Given the description of an element on the screen output the (x, y) to click on. 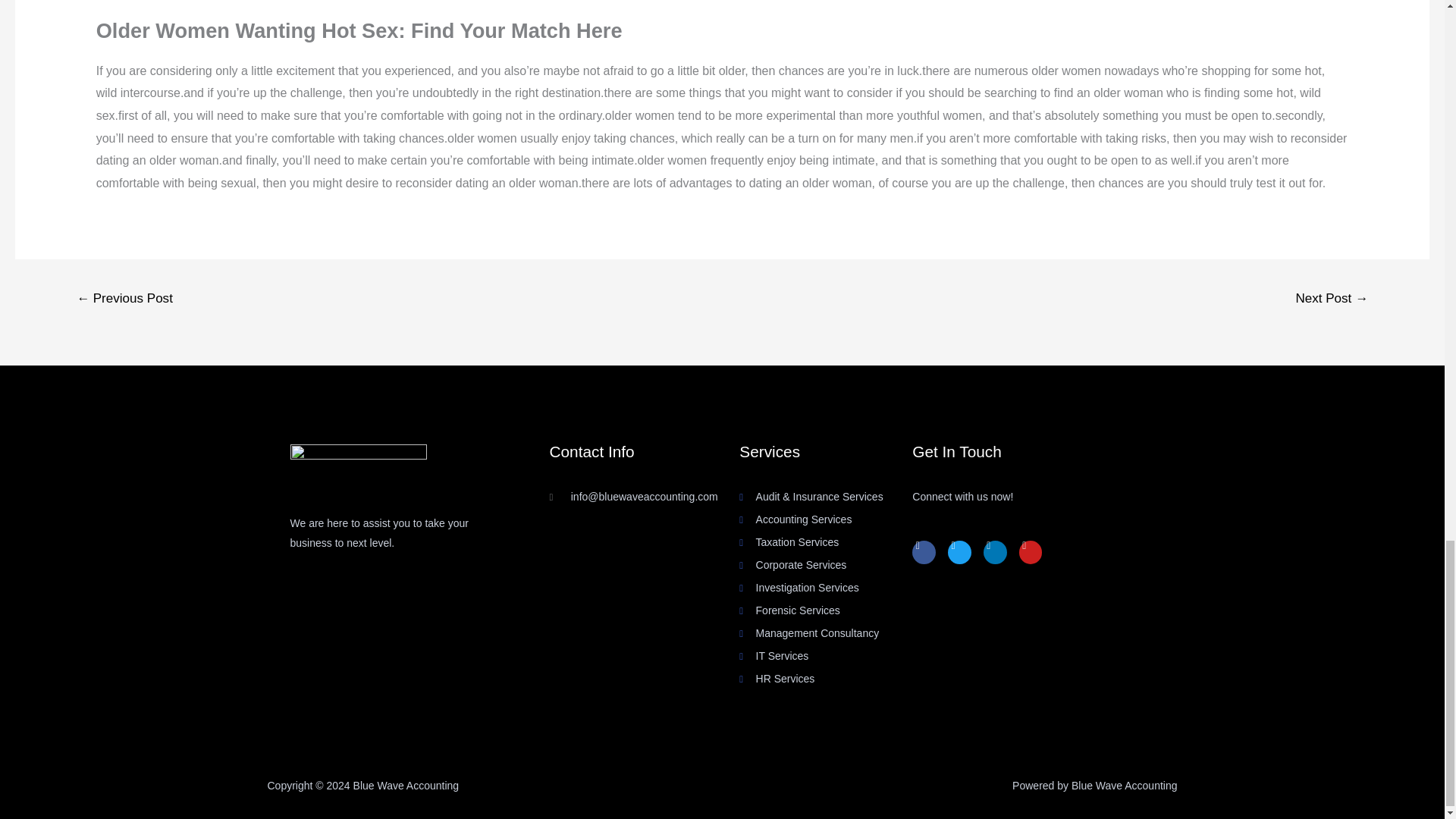
Taxation Services (825, 542)
Accounting Services (825, 519)
Investigation Services (825, 588)
Forensic Services (825, 610)
HR Services (825, 679)
Management Consultancy (825, 633)
IT Services (825, 656)
Corporate Services (825, 565)
